Given the description of an element on the screen output the (x, y) to click on. 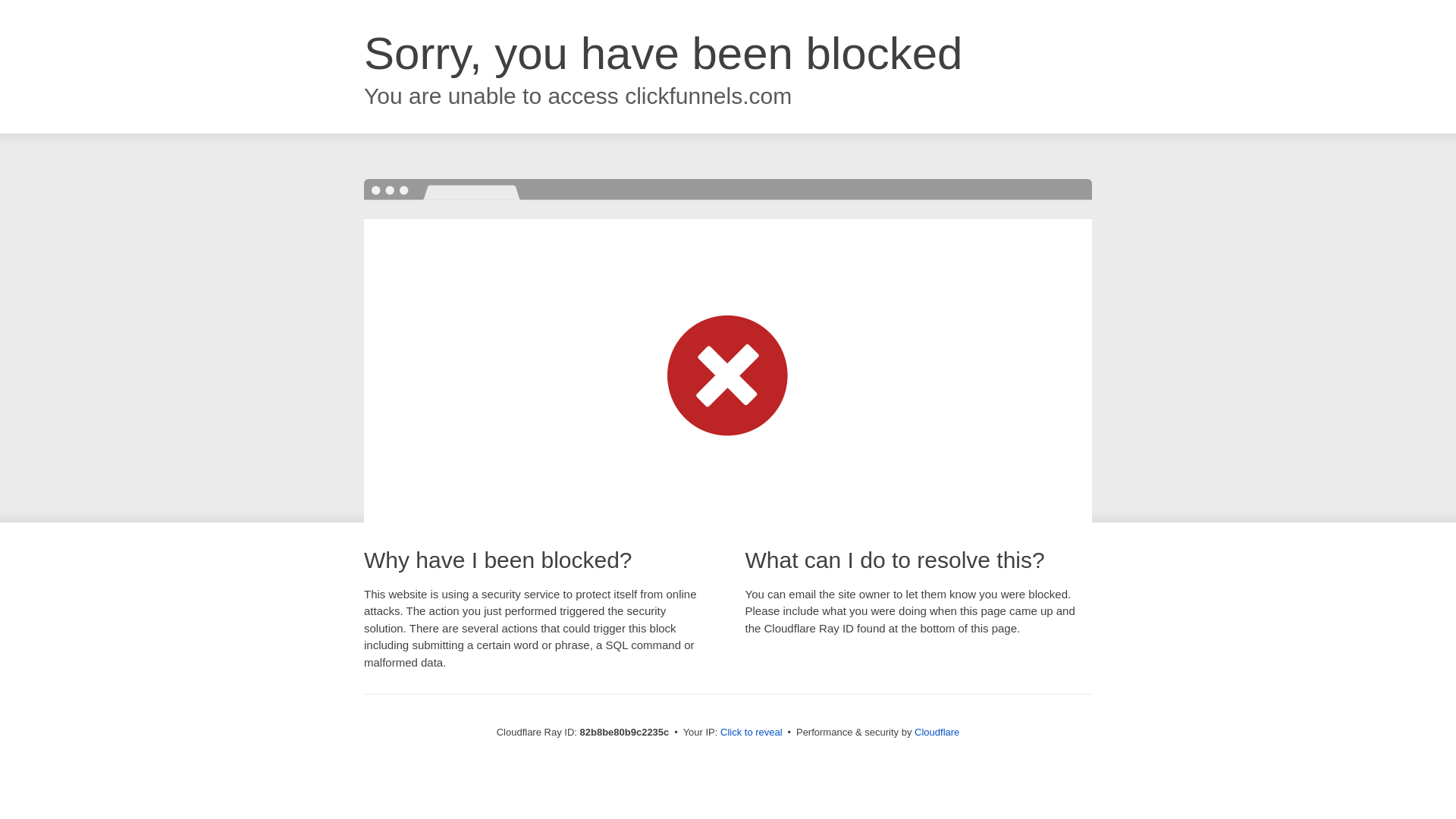
Click to reveal Element type: text (751, 732)
Cloudflare Element type: text (936, 731)
